Given the description of an element on the screen output the (x, y) to click on. 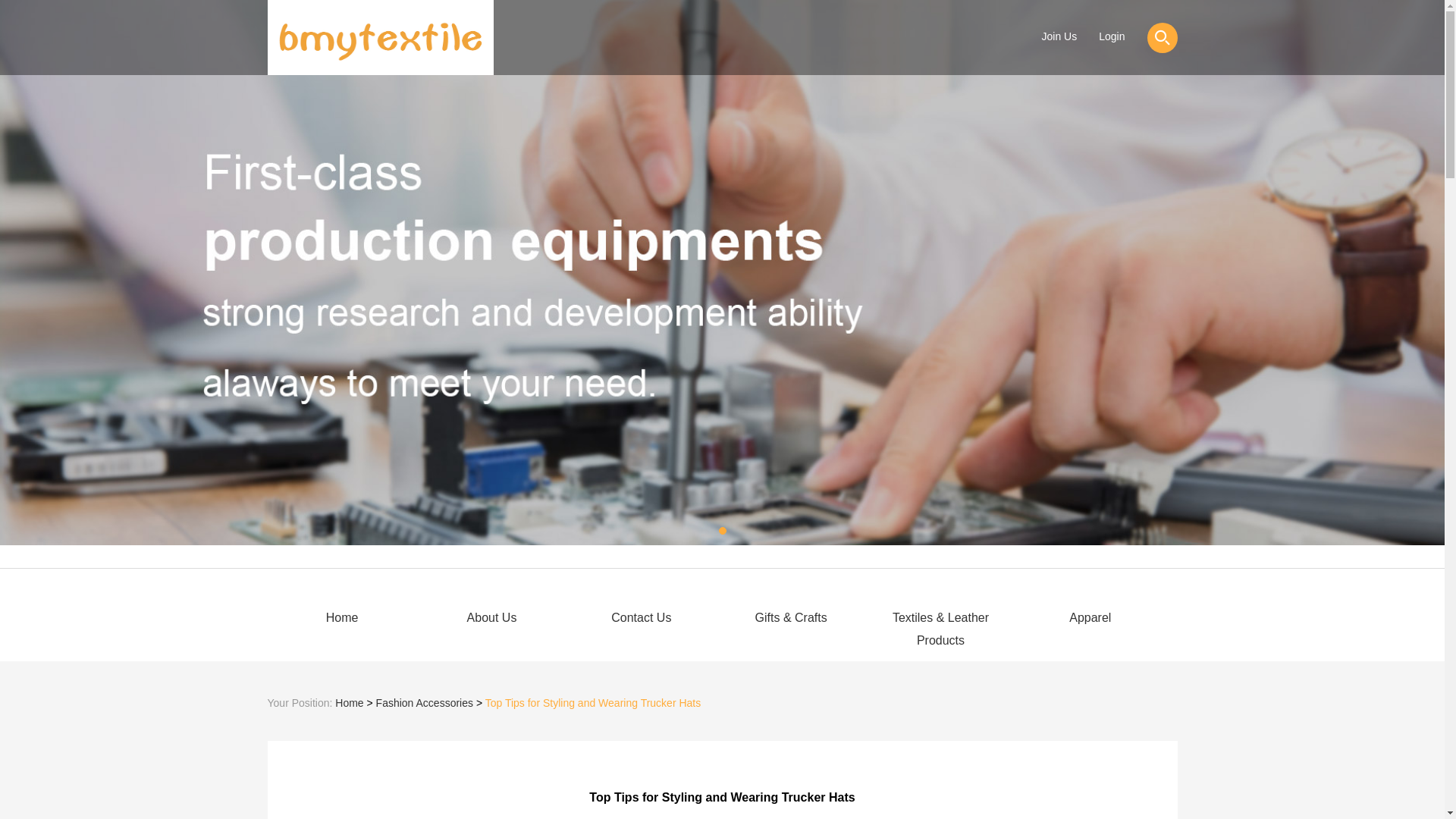
About Us (491, 617)
Fashion Accessories (424, 702)
Apparel (1089, 617)
Home (342, 617)
Home (348, 702)
Join Us (1059, 36)
Top Tips for Styling and Wearing Trucker Hats (592, 702)
Contact Us (640, 617)
Guest Post Guidelines for the bmytextile Blog (379, 37)
Login (1111, 36)
